Given the description of an element on the screen output the (x, y) to click on. 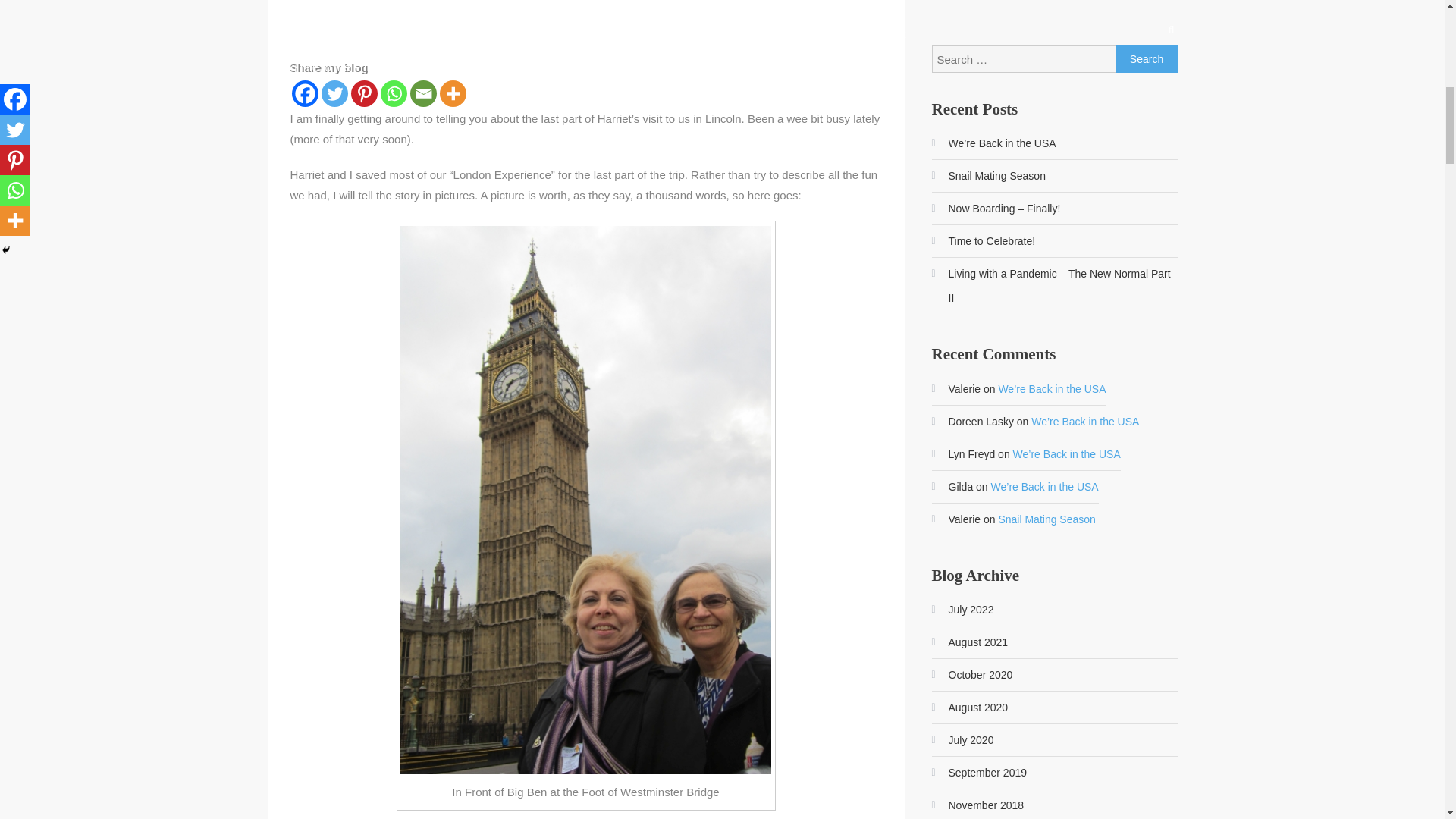
More (452, 93)
Whatsapp (393, 93)
Twitter (334, 93)
Email (422, 93)
Pinterest (363, 93)
Search (1146, 58)
Search (1146, 58)
Facebook (304, 93)
